Given the description of an element on the screen output the (x, y) to click on. 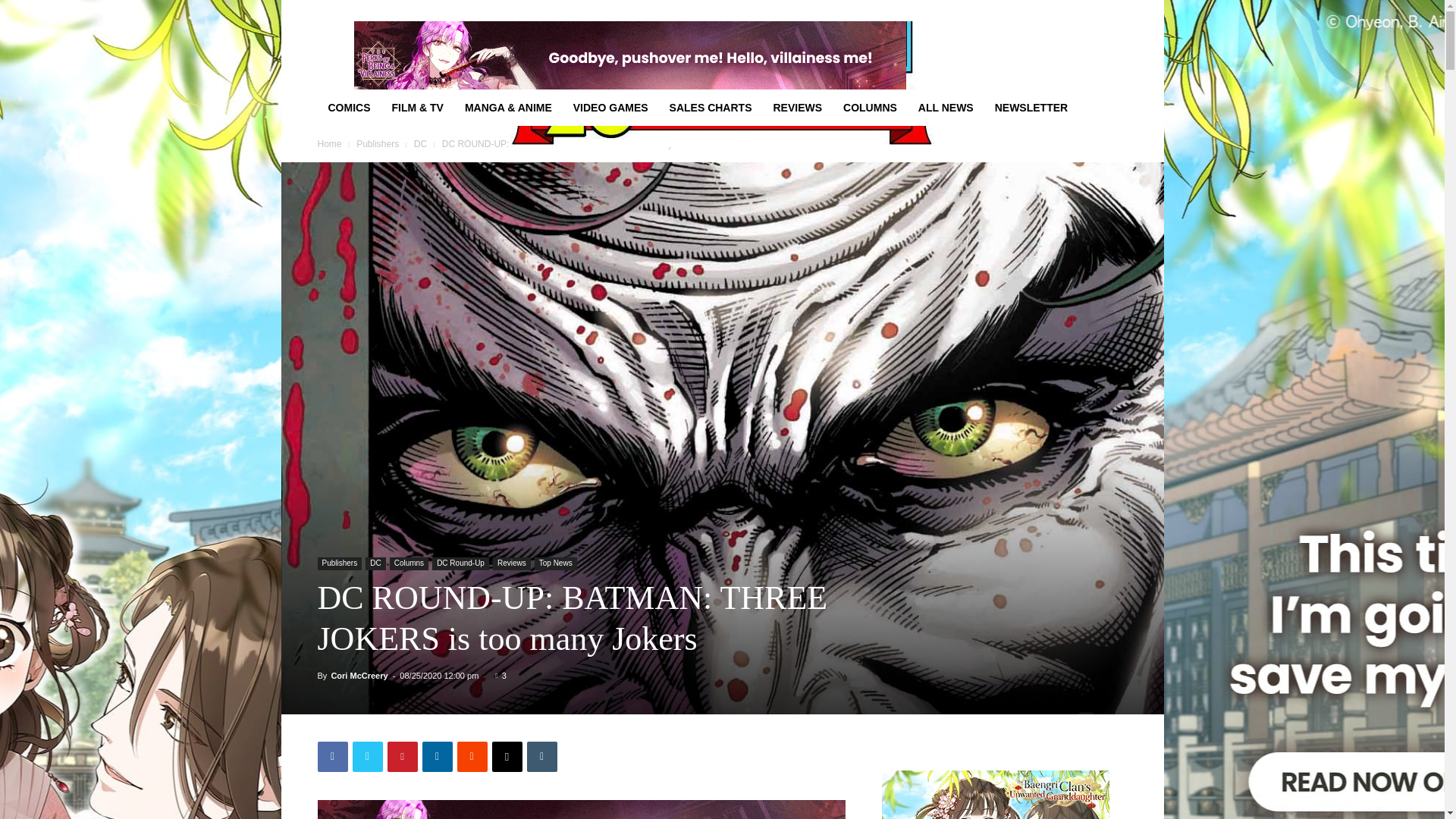
Instagram (1040, 10)
RSS (1065, 10)
Facebook (332, 757)
COMICS (348, 107)
Facebook (1015, 10)
Twitter (1090, 10)
COLUMNS (869, 107)
View all posts in DC (419, 143)
NEWSLETTER (1031, 107)
JOIN OUR MAILING LIST! (478, 10)
View all posts in Publishers (377, 143)
REVIEWS (796, 107)
Youtube (1114, 10)
Search (1085, 64)
ALL NEWS (945, 107)
